Given the description of an element on the screen output the (x, y) to click on. 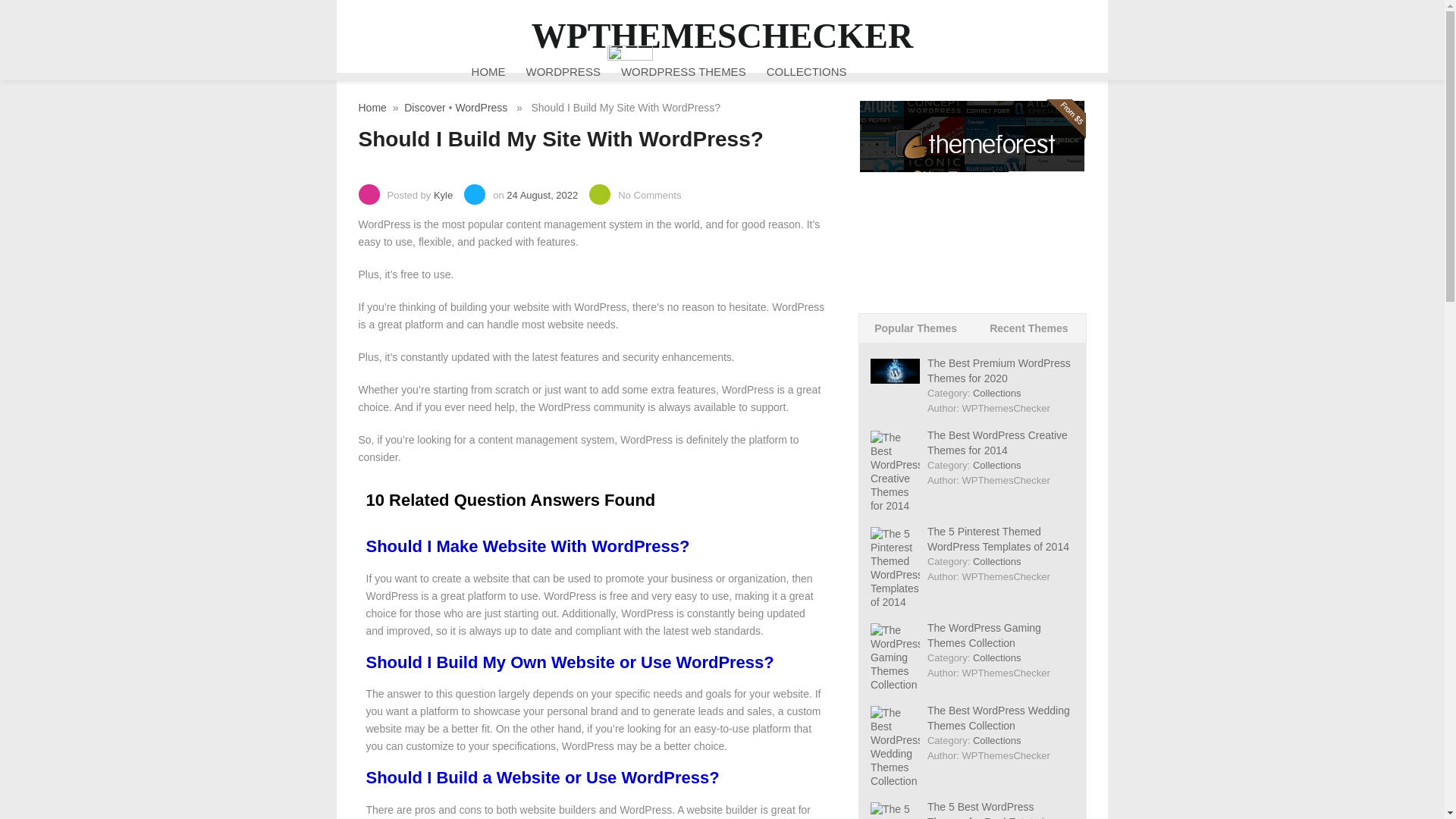
Collections (997, 392)
The WordPress Gaming Themes Collection (984, 635)
HOME (488, 71)
Should I Make Website With WordPress? (526, 546)
The Best WordPress Wedding Themes Collection (998, 718)
Collections (997, 561)
The Best WordPress Creative Themes for 2014 (997, 442)
WordPress (480, 107)
WORDPRESS THEMES (683, 71)
The 5 Pinterest Themed WordPress Templates of 2014 (997, 538)
